Given the description of an element on the screen output the (x, y) to click on. 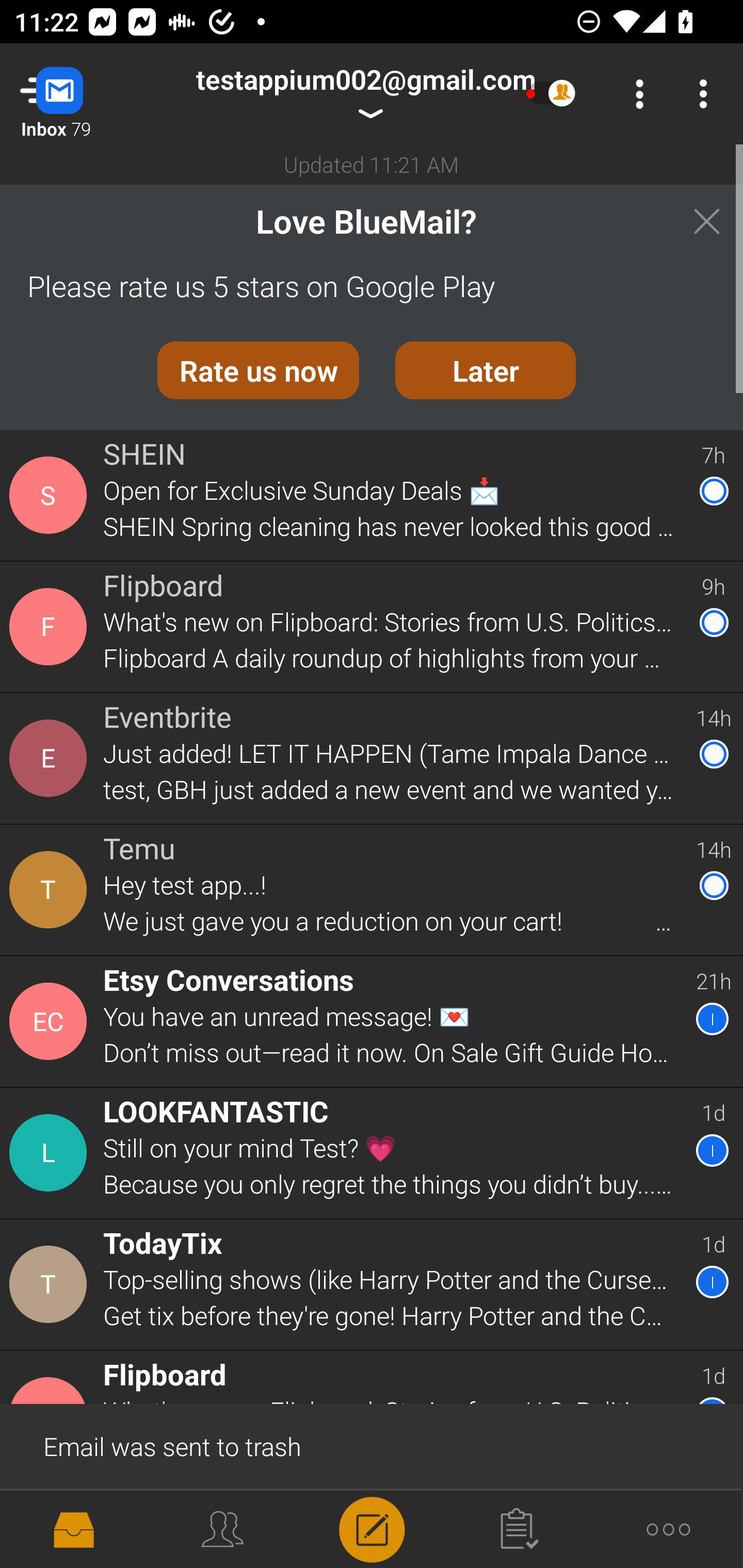
Navigate up (81, 93)
testappium002@gmail.com (365, 93)
More Options (634, 93)
More options (706, 93)
Updated 11:21 AM (371, 164)
Rate us now (257, 370)
Later (485, 370)
Contact Details (50, 495)
Contact Details (50, 626)
Contact Details (50, 758)
Contact Details (50, 889)
Contact Details (50, 1021)
Contact Details (50, 1153)
Contact Details (50, 1284)
Email was sent to trash (371, 1445)
Contact Details (50, 1524)
Compose (371, 1528)
